Given the description of an element on the screen output the (x, y) to click on. 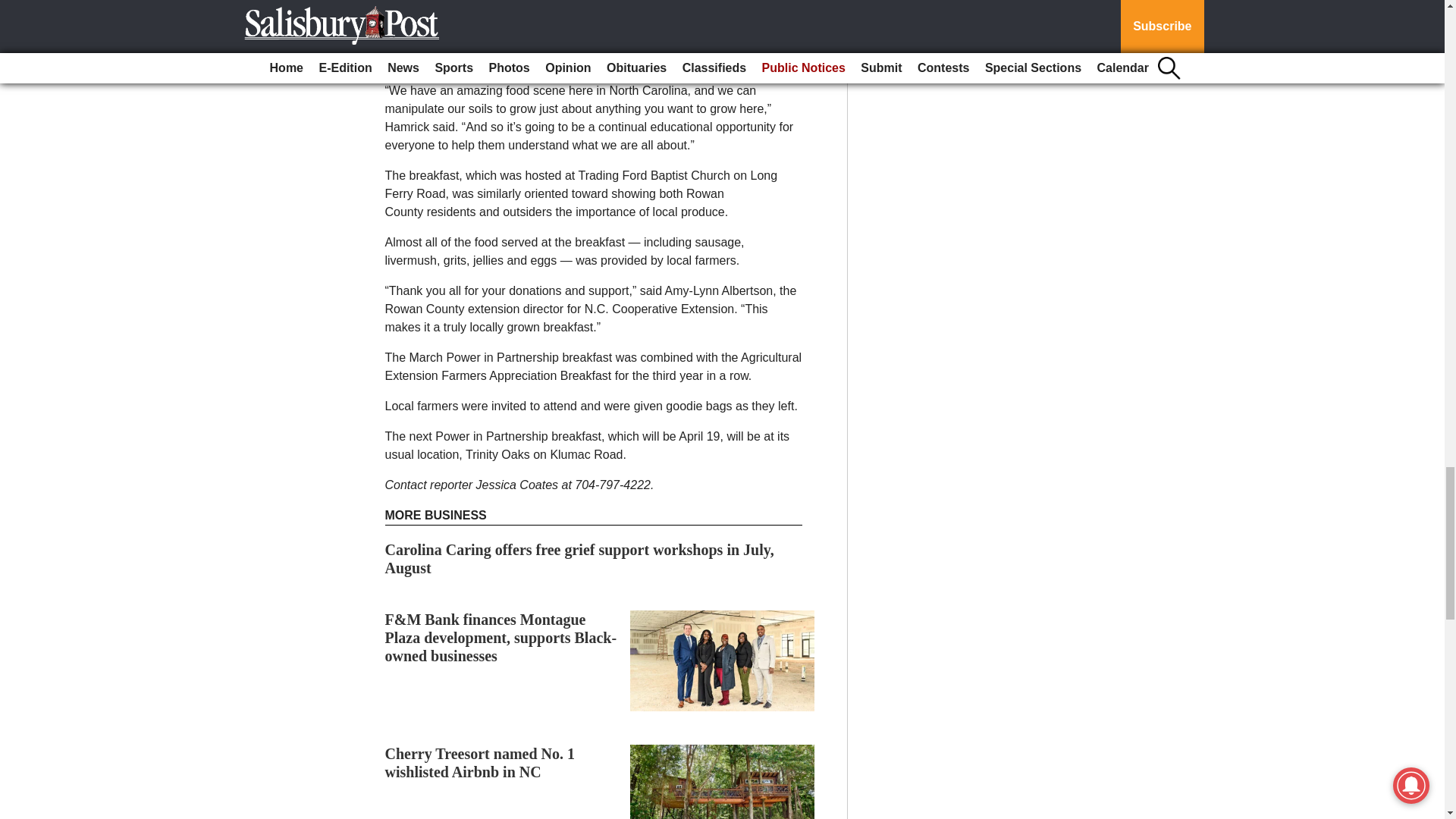
Cherry Treesort named No. 1 wishlisted Airbnb in NC (480, 762)
